Given the description of an element on the screen output the (x, y) to click on. 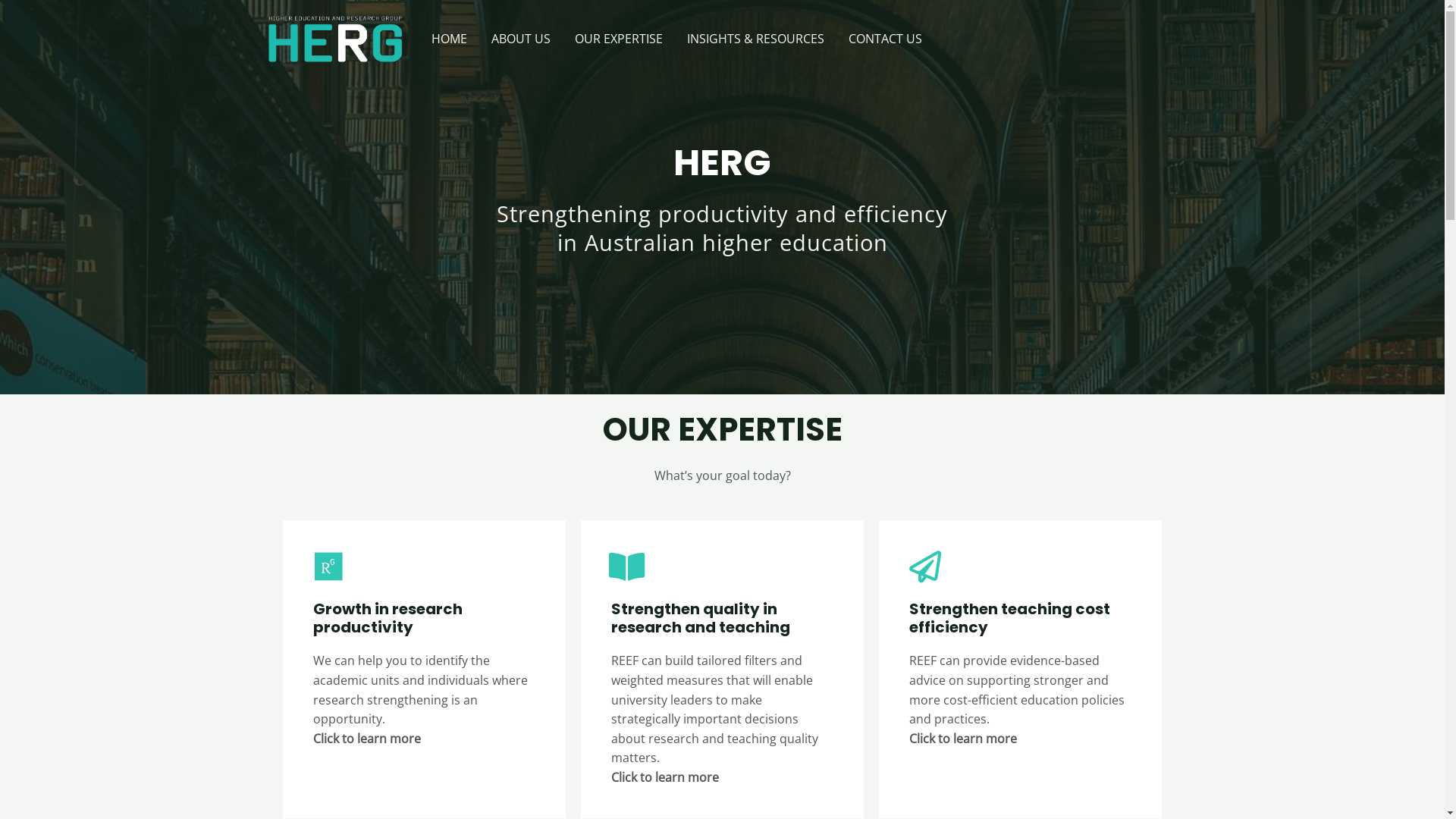
CONTACT US Element type: text (884, 38)
INSIGHTS & RESOURCES Element type: text (755, 38)
HOME Element type: text (448, 38)
OUR EXPERTISE Element type: text (618, 38)
ABOUT US Element type: text (520, 38)
